Given the description of an element on the screen output the (x, y) to click on. 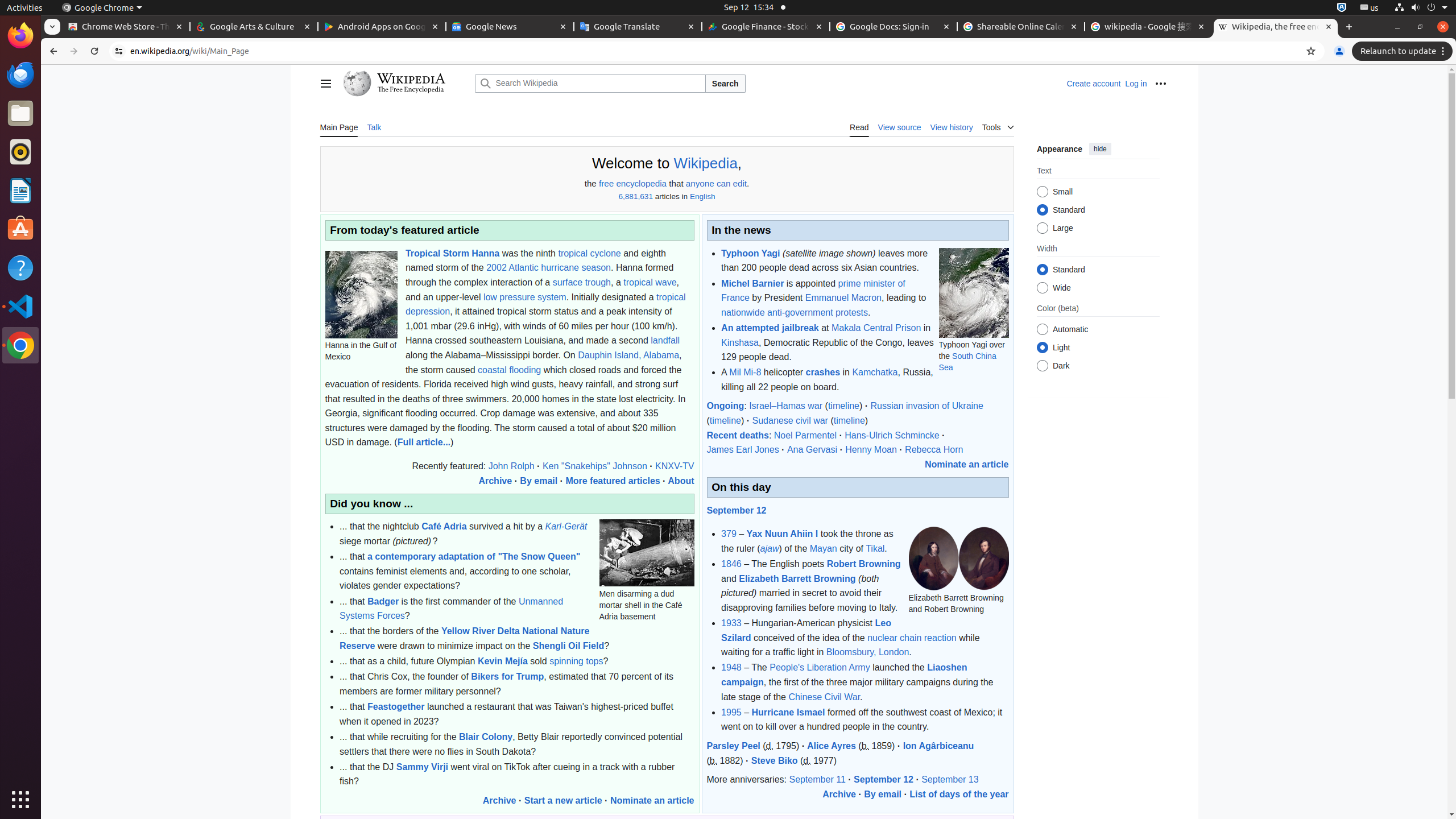
Chinese Civil War Element type: link (824, 696)
Google Chrome Element type: push-button (20, 344)
Light Element type: radio-button (1042, 347)
nuclear chain reaction Element type: link (911, 637)
Alice Ayres Element type: link (830, 745)
